Given the description of an element on the screen output the (x, y) to click on. 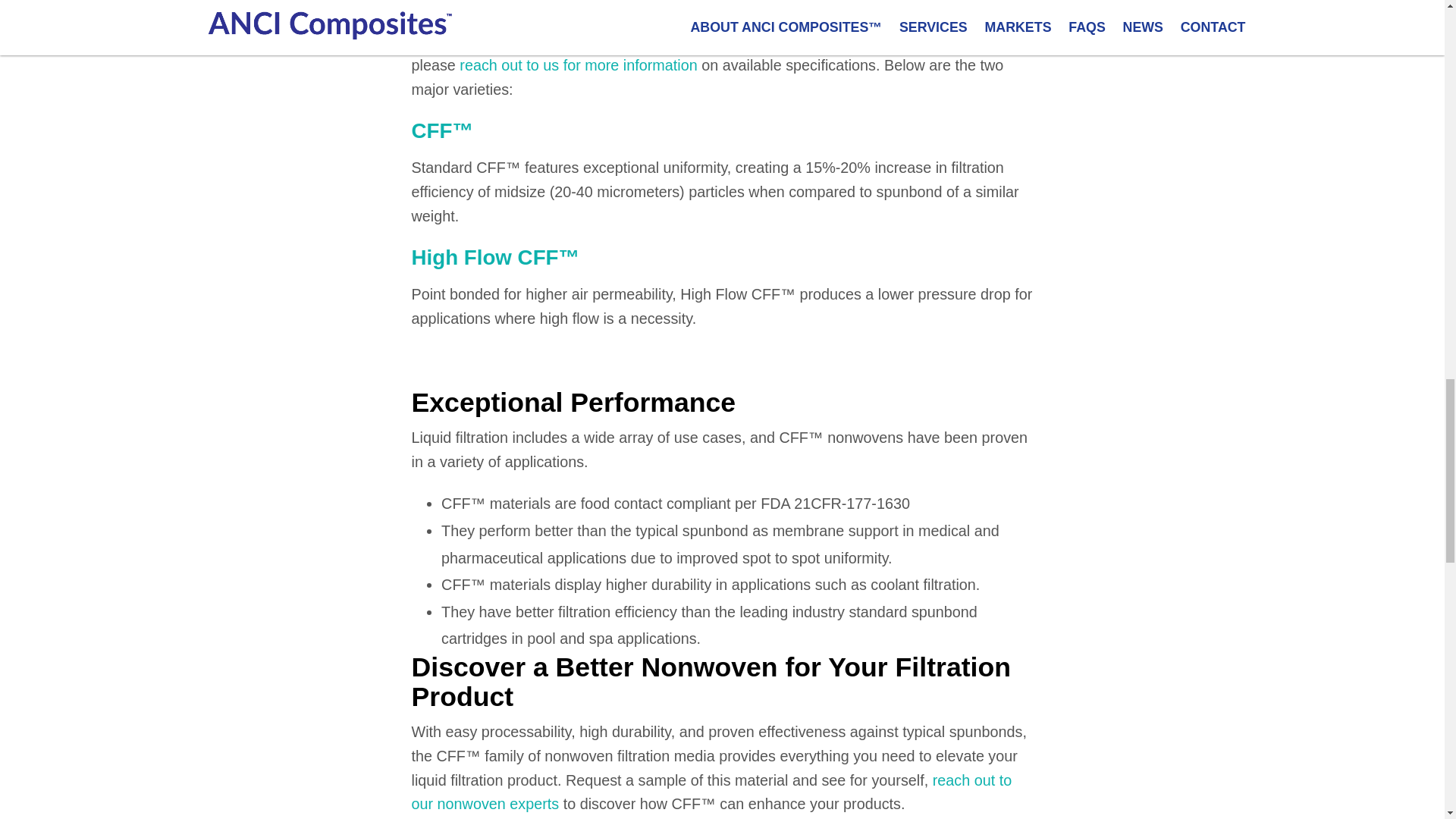
reach out to our nonwoven experts (710, 792)
reach out to us for more information (578, 64)
